Given the description of an element on the screen output the (x, y) to click on. 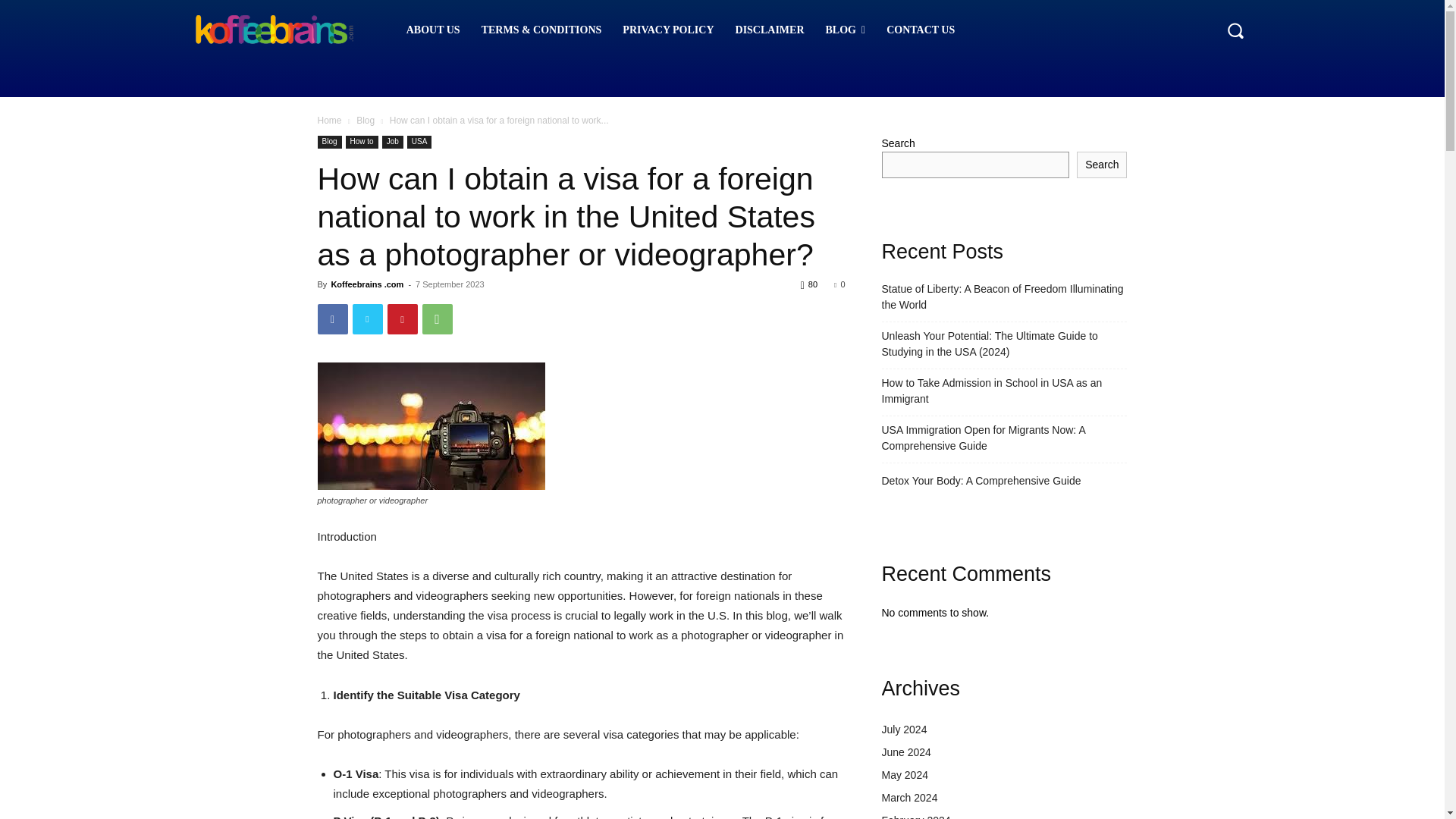
Pinterest (401, 318)
WhatsApp (436, 318)
DISCLAIMER (770, 30)
Koffeebarins USA (273, 29)
USA (419, 141)
Blog (328, 141)
BLOG (845, 30)
Facebook (332, 318)
Twitter (366, 318)
How to (362, 141)
0 (839, 284)
Home (328, 120)
View all posts in Blog (365, 120)
Koffeebrains .com (366, 284)
photographer or videographer (430, 425)
